Given the description of an element on the screen output the (x, y) to click on. 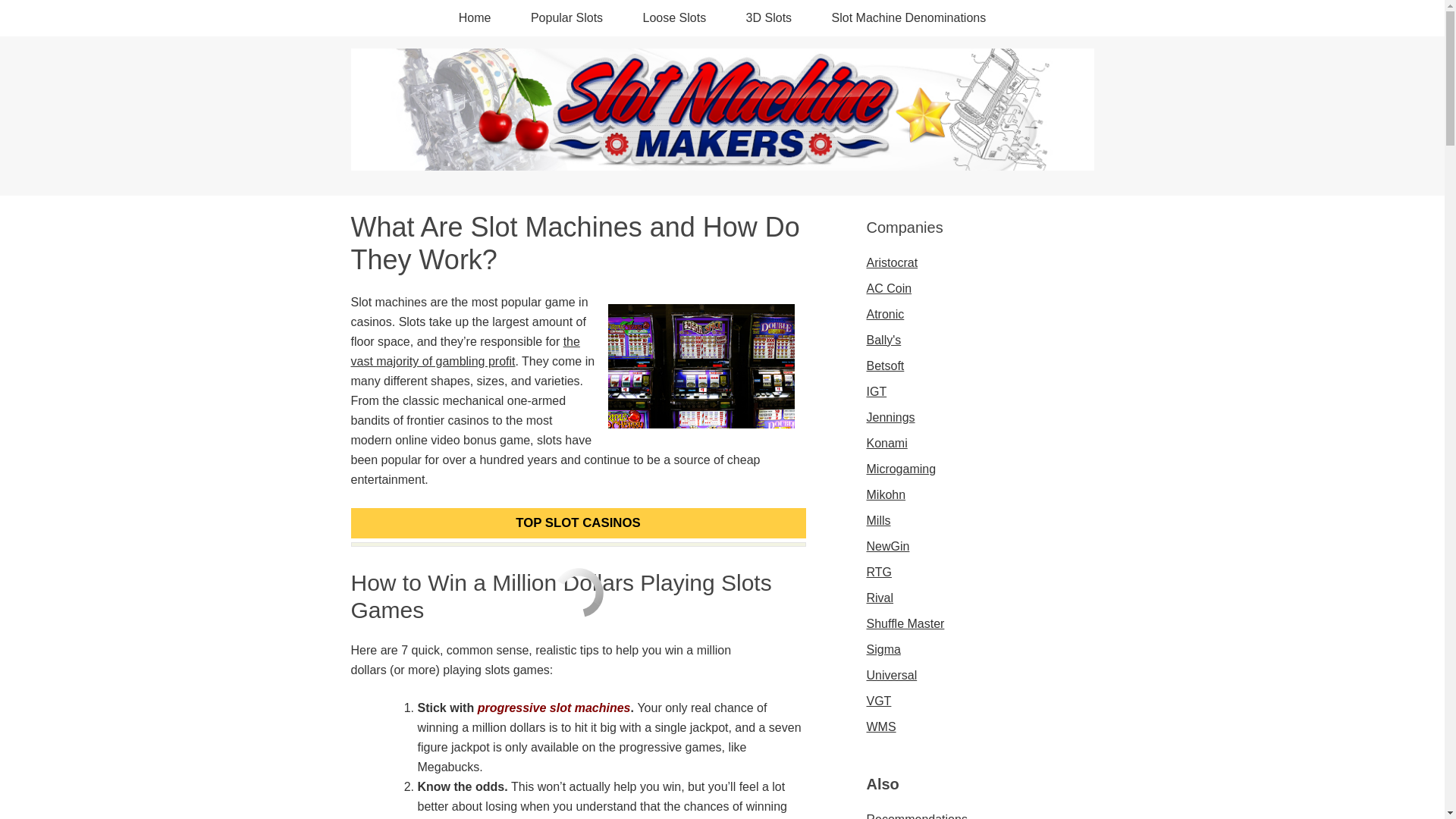
Recommendations (916, 816)
Popular Slots (566, 18)
AC Coin (888, 287)
Rival (879, 597)
Home (475, 18)
Bally's (883, 339)
3D Slots (768, 18)
Slot Machine Makers (721, 158)
Universal (891, 675)
Sigma (882, 649)
